Given the description of an element on the screen output the (x, y) to click on. 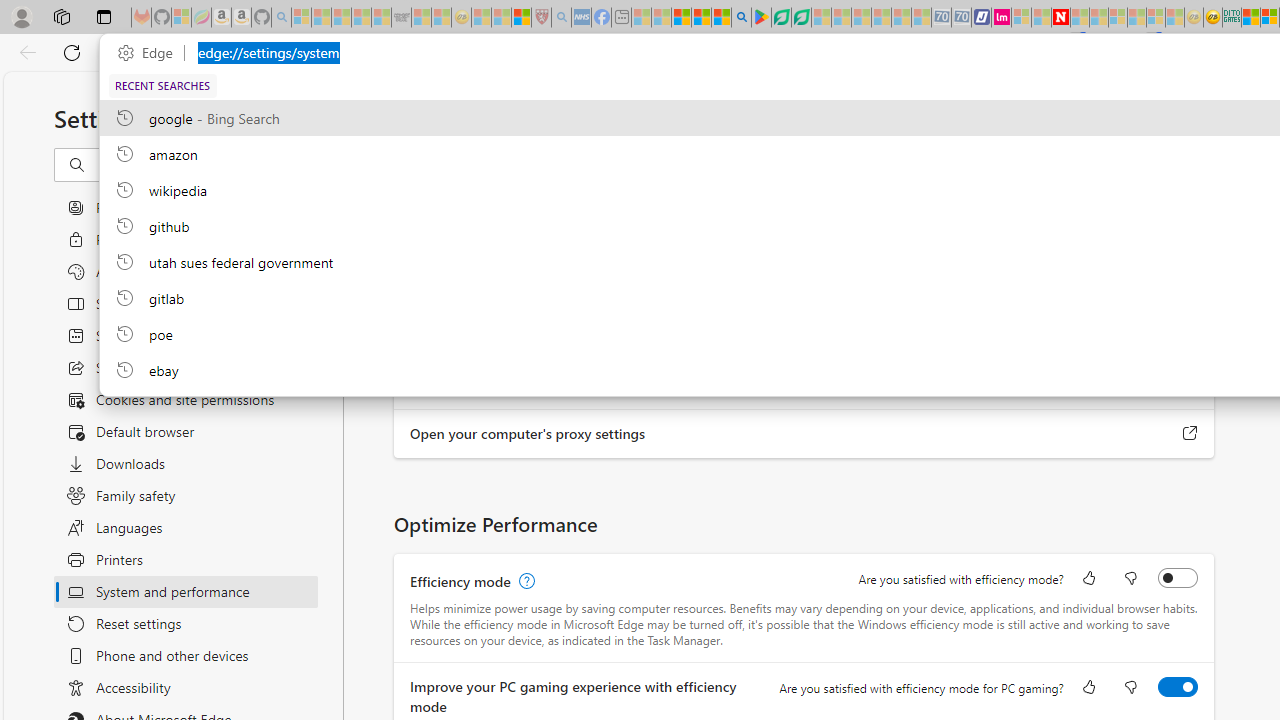
Efficiency mode (1178, 578)
Efficiency mode, learn more (523, 582)
Terms of Use Agreement (781, 17)
